Given the description of an element on the screen output the (x, y) to click on. 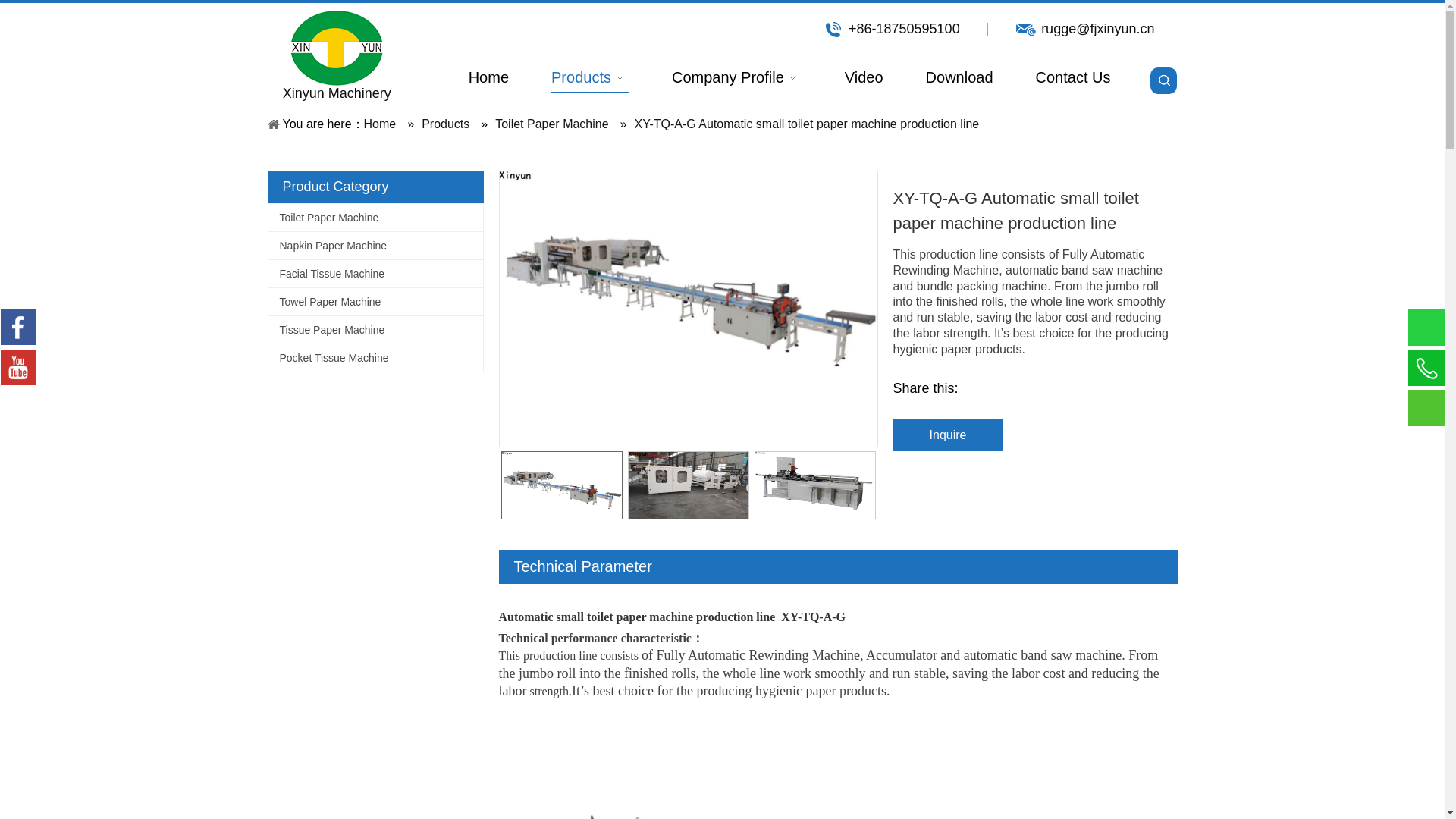
Products (589, 77)
Company Profile (736, 77)
Download (959, 77)
Toilet Paper Machine (551, 124)
Video (863, 77)
Home (488, 77)
Contact Us (1072, 77)
Toilet Paper Machine (375, 216)
